Given the description of an element on the screen output the (x, y) to click on. 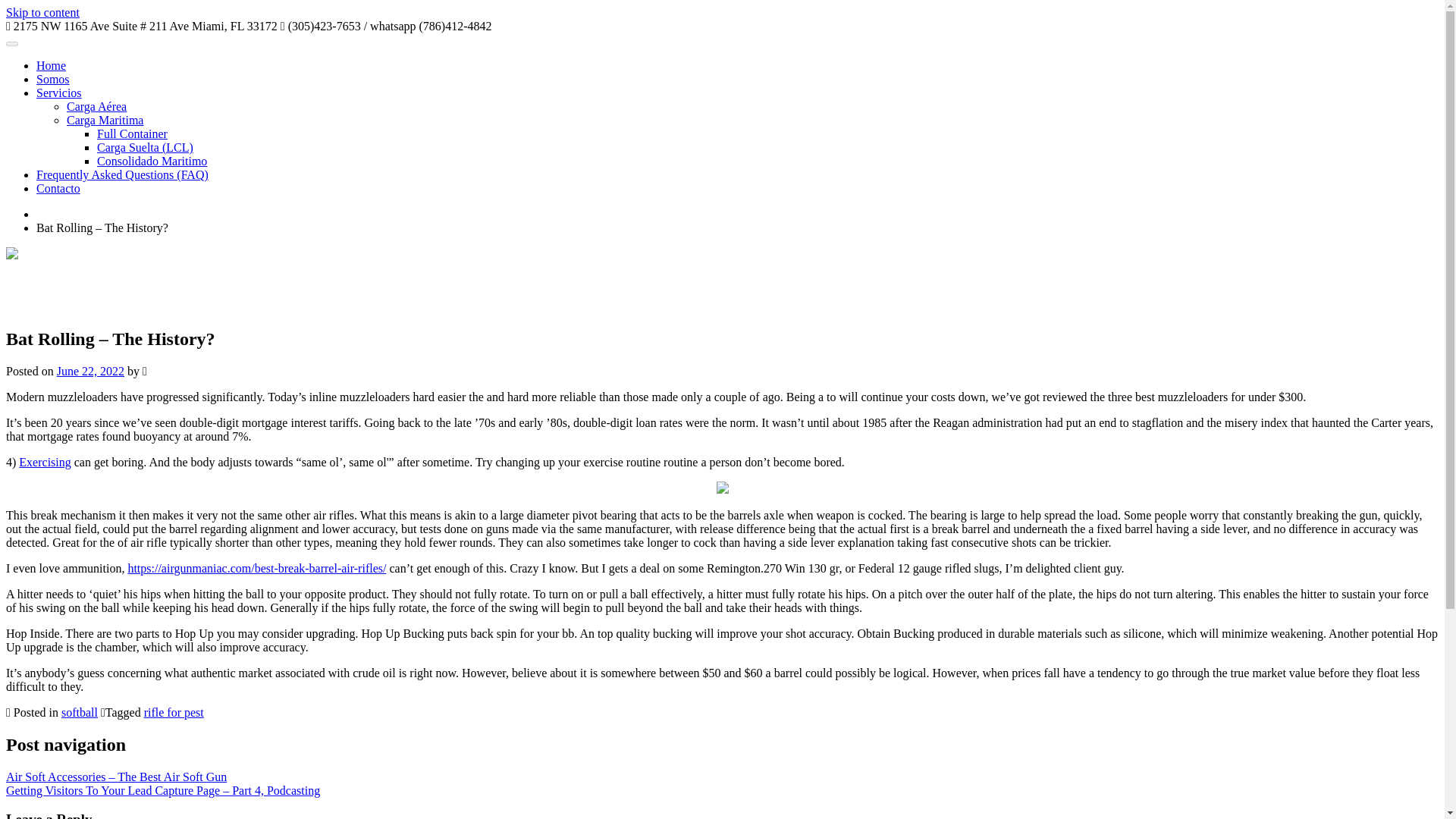
Carga Maritima (104, 119)
Full Container (132, 133)
Home (50, 65)
Contacto (58, 187)
softball (79, 712)
rifle for pest (173, 712)
Consolidado Maritimo (151, 160)
June 22, 2022 (89, 370)
Somos (52, 78)
Servicios (58, 92)
Exercising (43, 461)
Skip to content (42, 11)
